Given the description of an element on the screen output the (x, y) to click on. 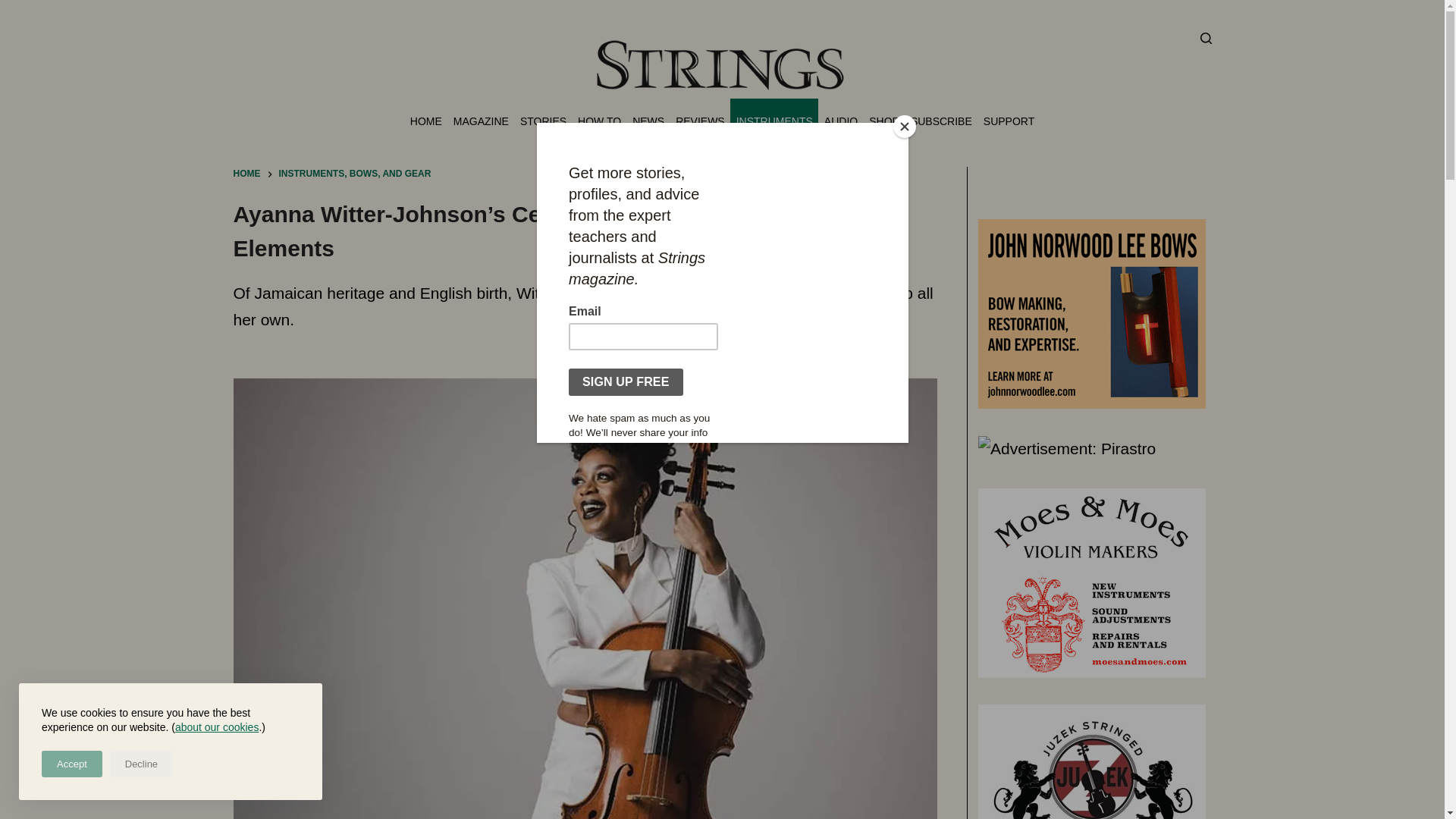
INSTRUMENTS, BOWS, AND GEAR (354, 174)
HOW TO (599, 121)
REVIEWS (699, 121)
HOME (246, 174)
AUDIO (840, 121)
Advertisement: Metropolitan Music  (1091, 761)
Accept (71, 764)
SHOP (884, 121)
INSTRUMENTS (774, 121)
SUBSCRIBE (940, 121)
STORIES (542, 121)
Advertisement: Pirastro (1067, 448)
Advertisement: John Norwood Lee Bows (1091, 313)
Skip to content (15, 7)
HOME (425, 121)
